Given the description of an element on the screen output the (x, y) to click on. 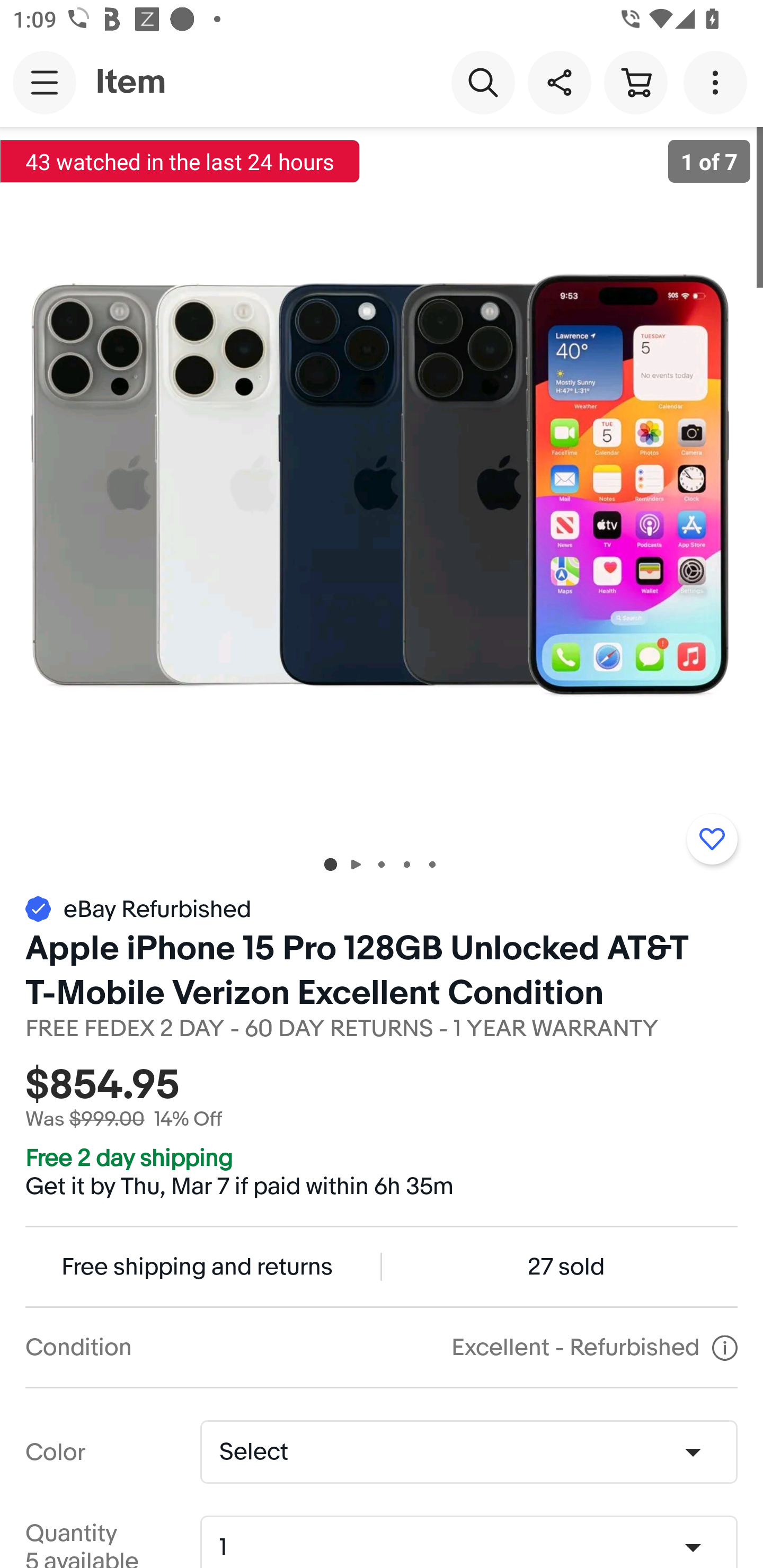
Main navigation, open (44, 82)
Search (482, 81)
Share this item (559, 81)
Cart button shopping cart (635, 81)
More options (718, 81)
Item image 1 of 7 (381, 482)
43 watched in the last 24 hours (180, 161)
Add to watchlist (711, 838)
Color,No selection Select (468, 1451)
Quantity,1,5 available 1 (474, 1547)
